Given the description of an element on the screen output the (x, y) to click on. 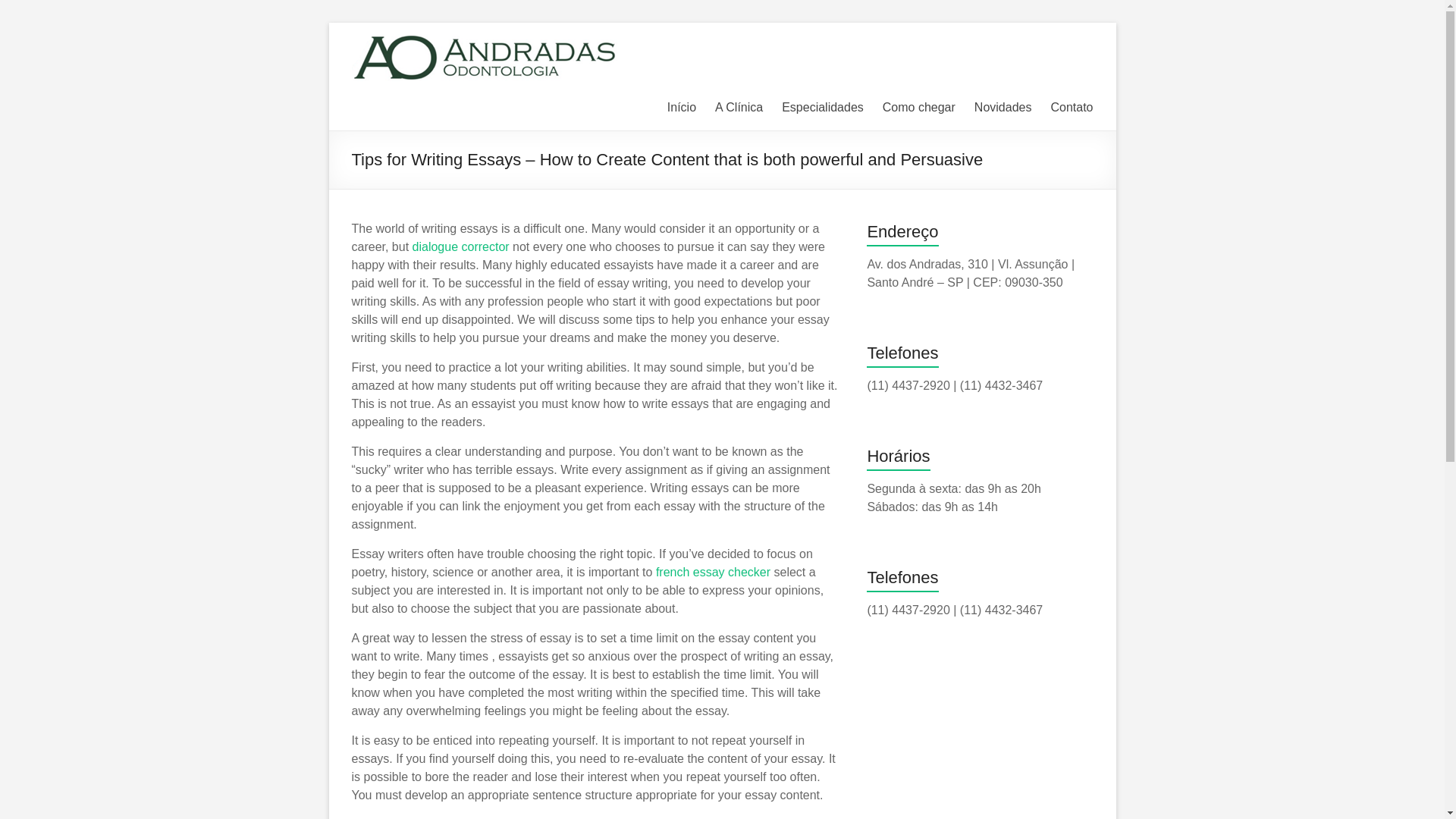
dialogue corrector (460, 246)
Especialidades (822, 107)
Como chegar (918, 107)
Contato (1071, 107)
french essay checker (713, 571)
Novidades (1003, 107)
